Given the description of an element on the screen output the (x, y) to click on. 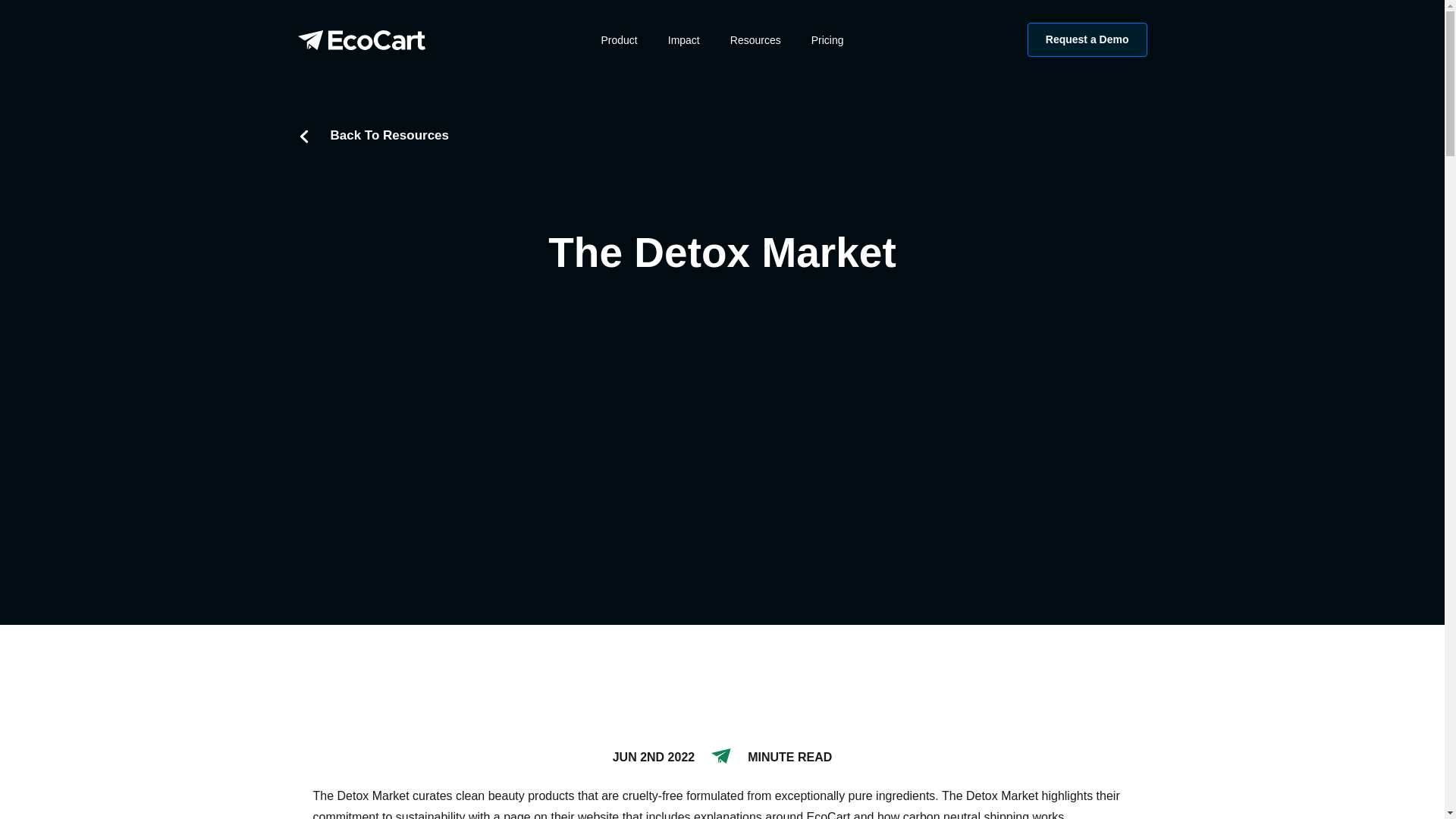
Request a Demo (1087, 39)
Back To Resources (372, 134)
Pricing (827, 39)
Product (618, 39)
Resources (755, 39)
Impact (684, 39)
